Given the description of an element on the screen output the (x, y) to click on. 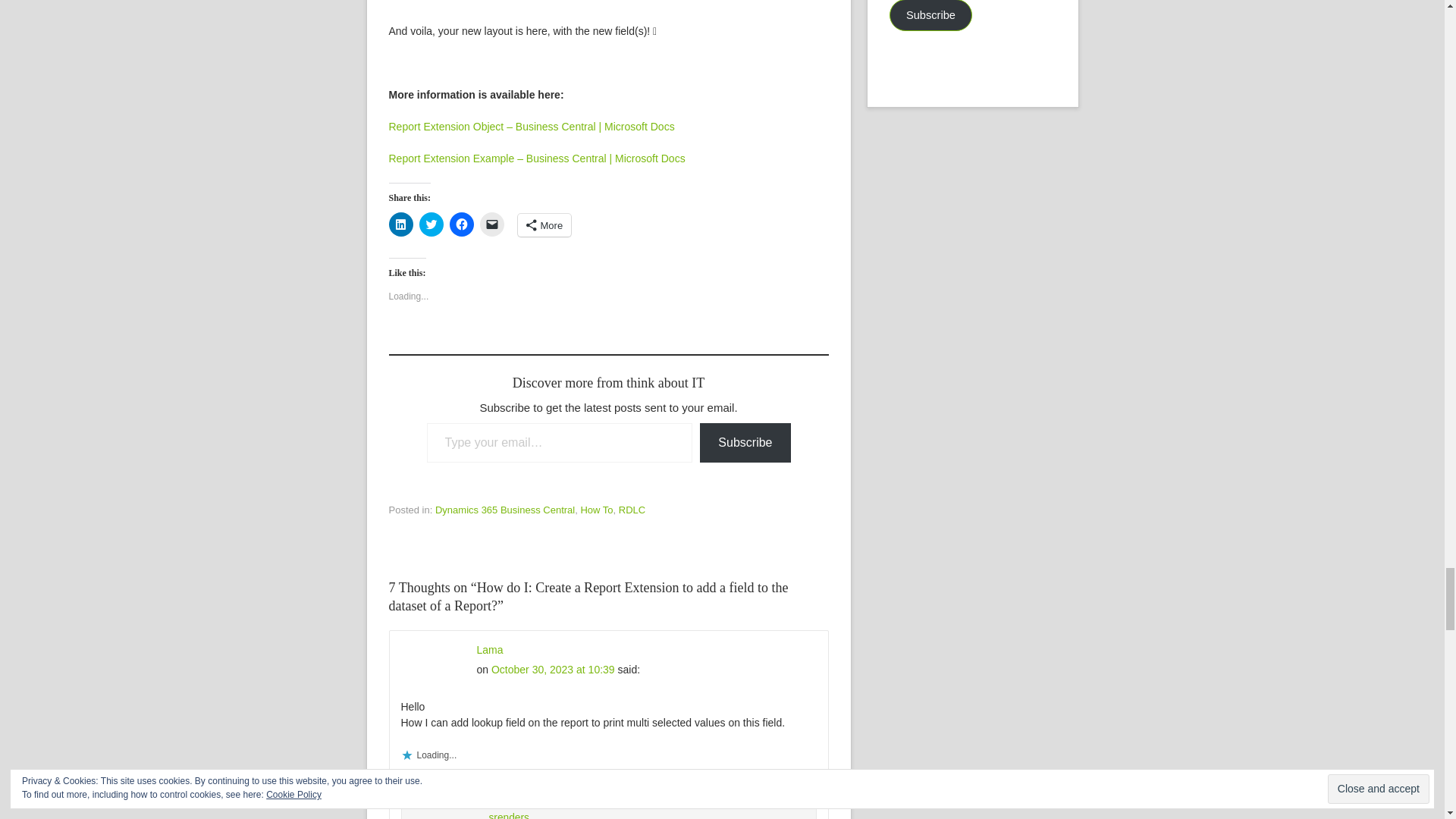
Click to share on Facebook (460, 224)
Dynamics 365 Business Central (505, 509)
Please fill in this field. (559, 443)
How To (595, 509)
October 30, 2023 at 10:39 (553, 669)
Lama (489, 649)
Click to share on Twitter (430, 224)
Subscribe (745, 443)
Click to share on LinkedIn (400, 224)
Click to email a link to a friend (491, 224)
